Given the description of an element on the screen output the (x, y) to click on. 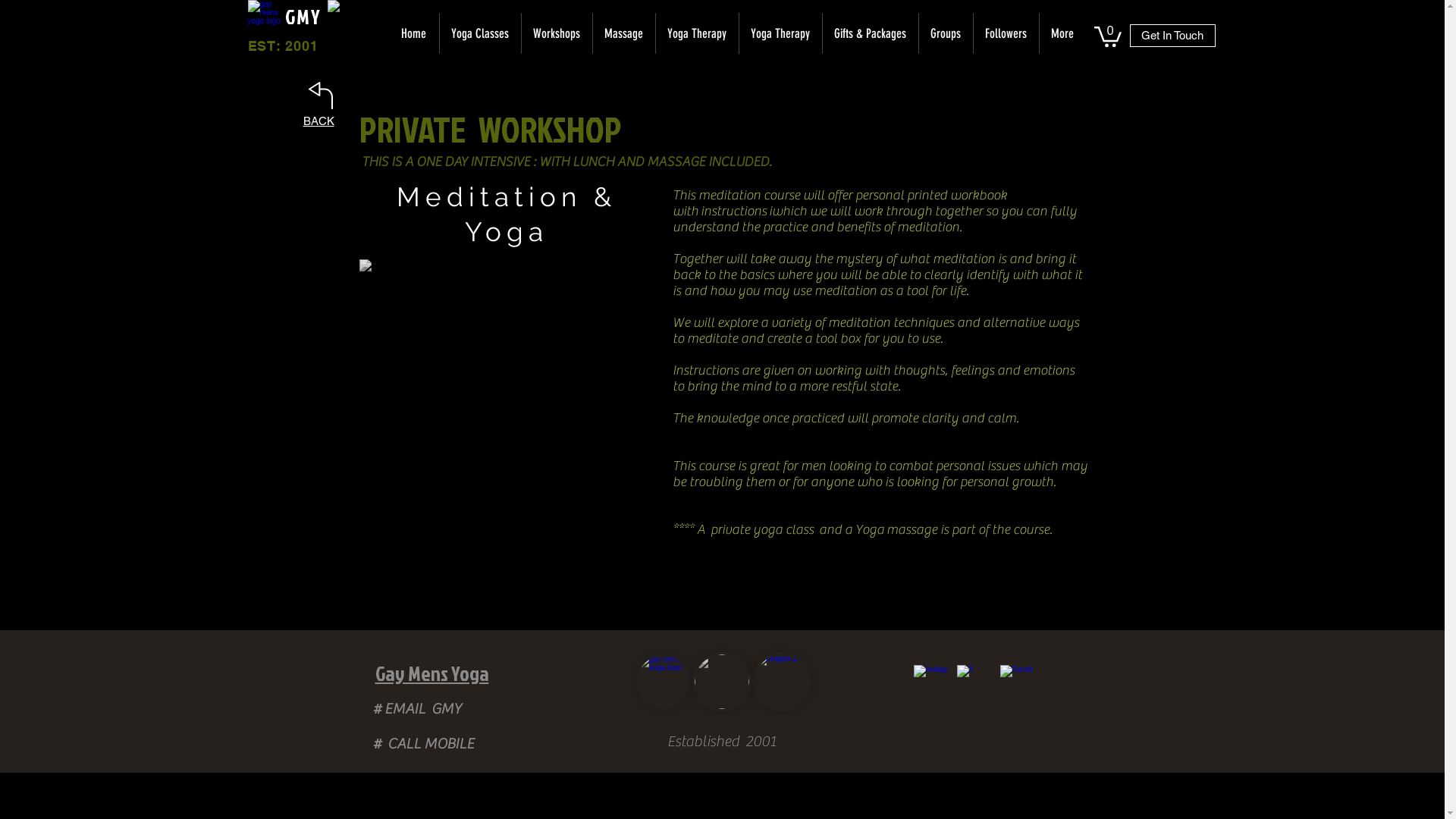
Groups Element type: text (944, 32)
Followers Element type: text (1005, 32)
0 Element type: text (1106, 35)
Home Element type: text (414, 32)
#  CALL MOBILE Element type: text (423, 743)
Embedded Content Element type: hover (757, 585)
www.gaymensyoga.com.au Element type: hover (263, 16)
www.gaymensyoga.com.au Element type: hover (662, 681)
www.gaymensyoga.com.au Element type: hover (506, 406)
GMY Element type: text (213, 16)
Get In Touch Element type: text (1172, 35)
Yoga Classes Element type: text (479, 32)
Gay Mens Yoga Element type: text (431, 672)
BACK Element type: text (318, 120)
www.gaymensyoga.com.au Element type: hover (356, 28)
Yoga Therapy Element type: text (780, 32)
Workshops Element type: text (555, 32)
# EMAIL  GMY Element type: text (417, 708)
Established  2001 Element type: text (721, 739)
Massage Element type: text (622, 32)
Gifts & Packages Element type: text (870, 32)
Yoga Therapy Element type: text (696, 32)
